Given the description of an element on the screen output the (x, y) to click on. 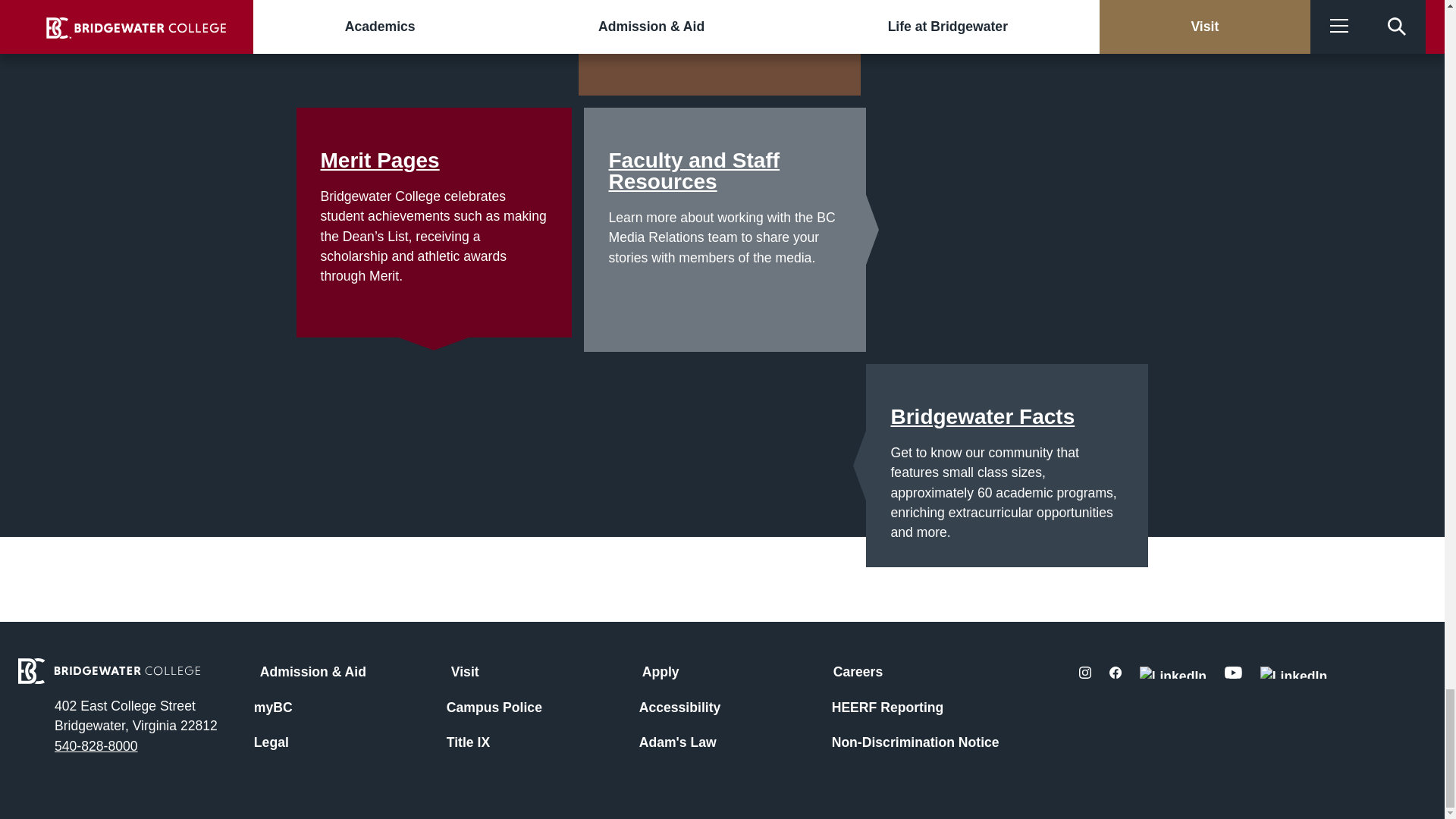
social-facebook (1115, 672)
social-youtube (1232, 672)
social-instagram-fill (1084, 672)
